Given the description of an element on the screen output the (x, y) to click on. 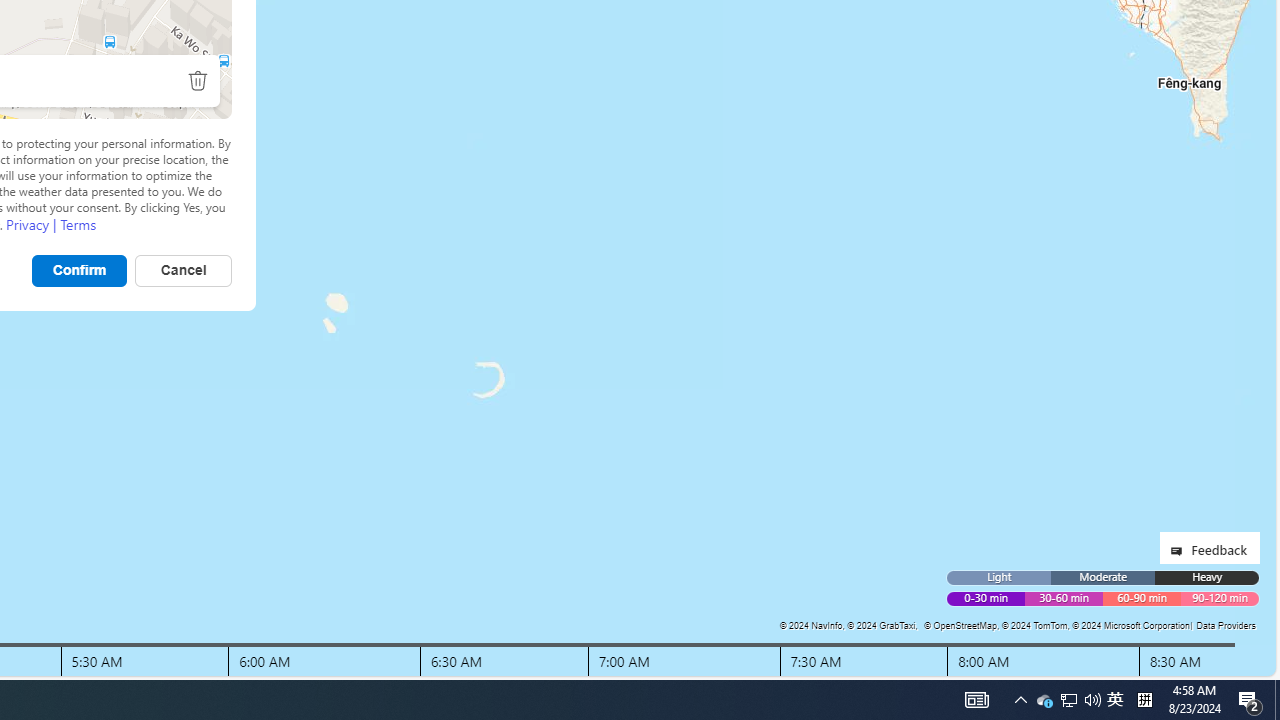
Data Providers (1225, 625)
Feedback (1209, 547)
Remove (197, 79)
Class: feedback_link_icon-DS-EntryPoint1-1 (1179, 550)
Cancel (182, 270)
Confirm (80, 270)
